Given the description of an element on the screen output the (x, y) to click on. 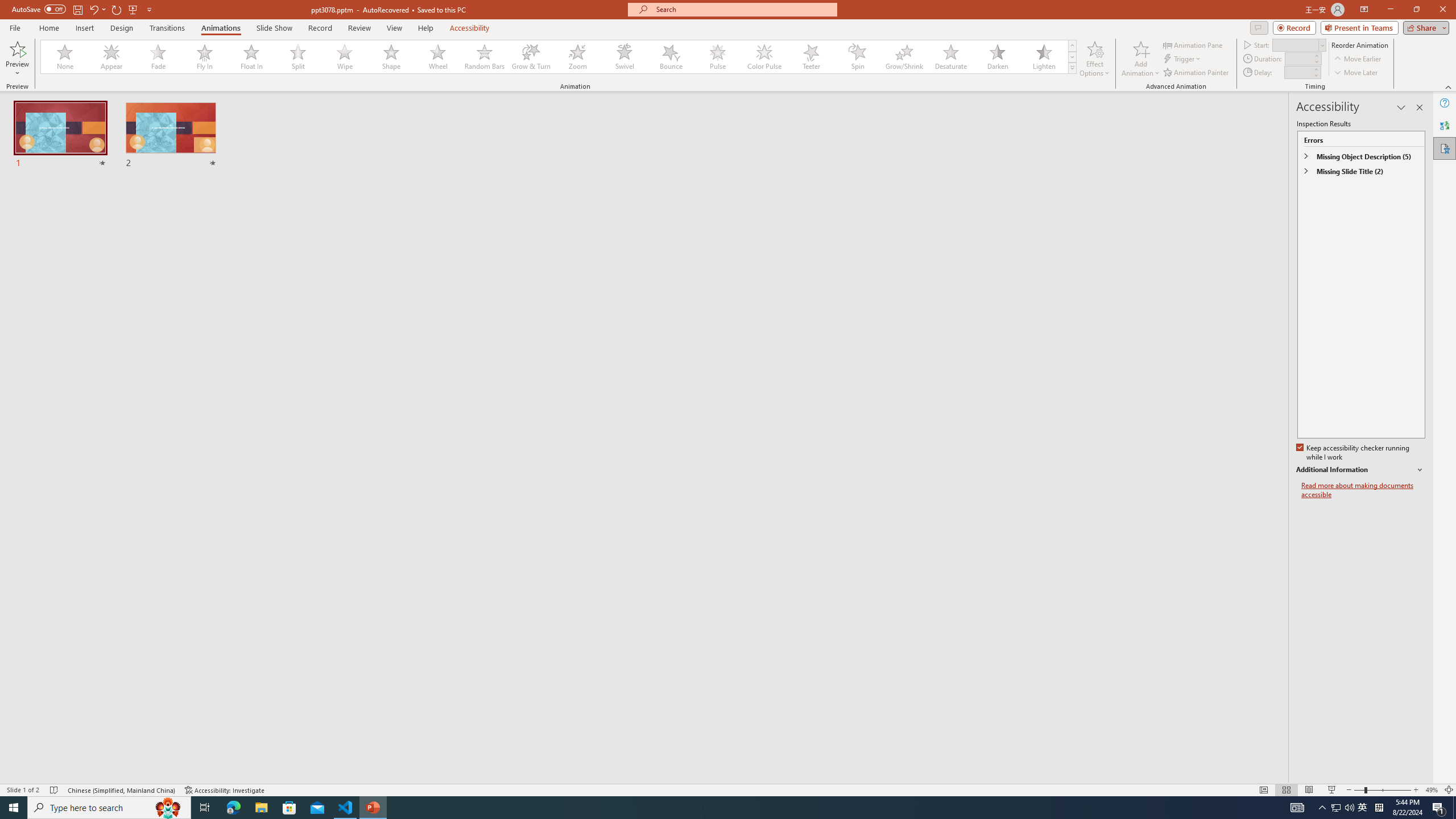
Effect Options (1094, 58)
None (65, 56)
